Given the description of an element on the screen output the (x, y) to click on. 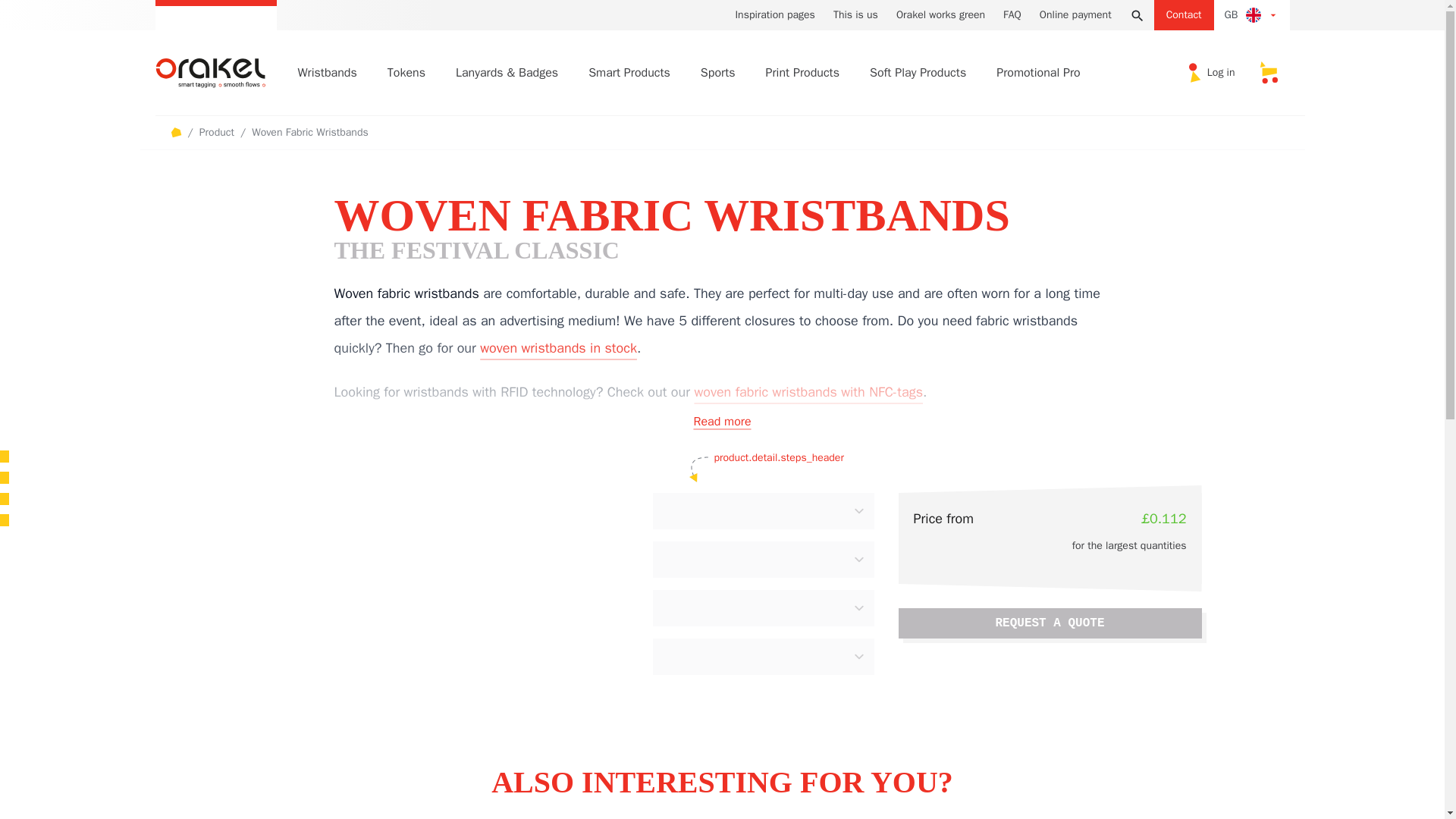
Wristbands (326, 72)
Log in (1211, 72)
Search (1137, 15)
FAQ (1012, 15)
Orakel logo (209, 71)
GB (1252, 15)
Orakel works green (940, 15)
Orakel logo (218, 71)
Smart Products (629, 72)
Inspiration pages (774, 15)
This is us (855, 15)
My saved shopping carts (1267, 72)
Print Products (802, 72)
Tokens (406, 72)
Online payment (1075, 15)
